Given the description of an element on the screen output the (x, y) to click on. 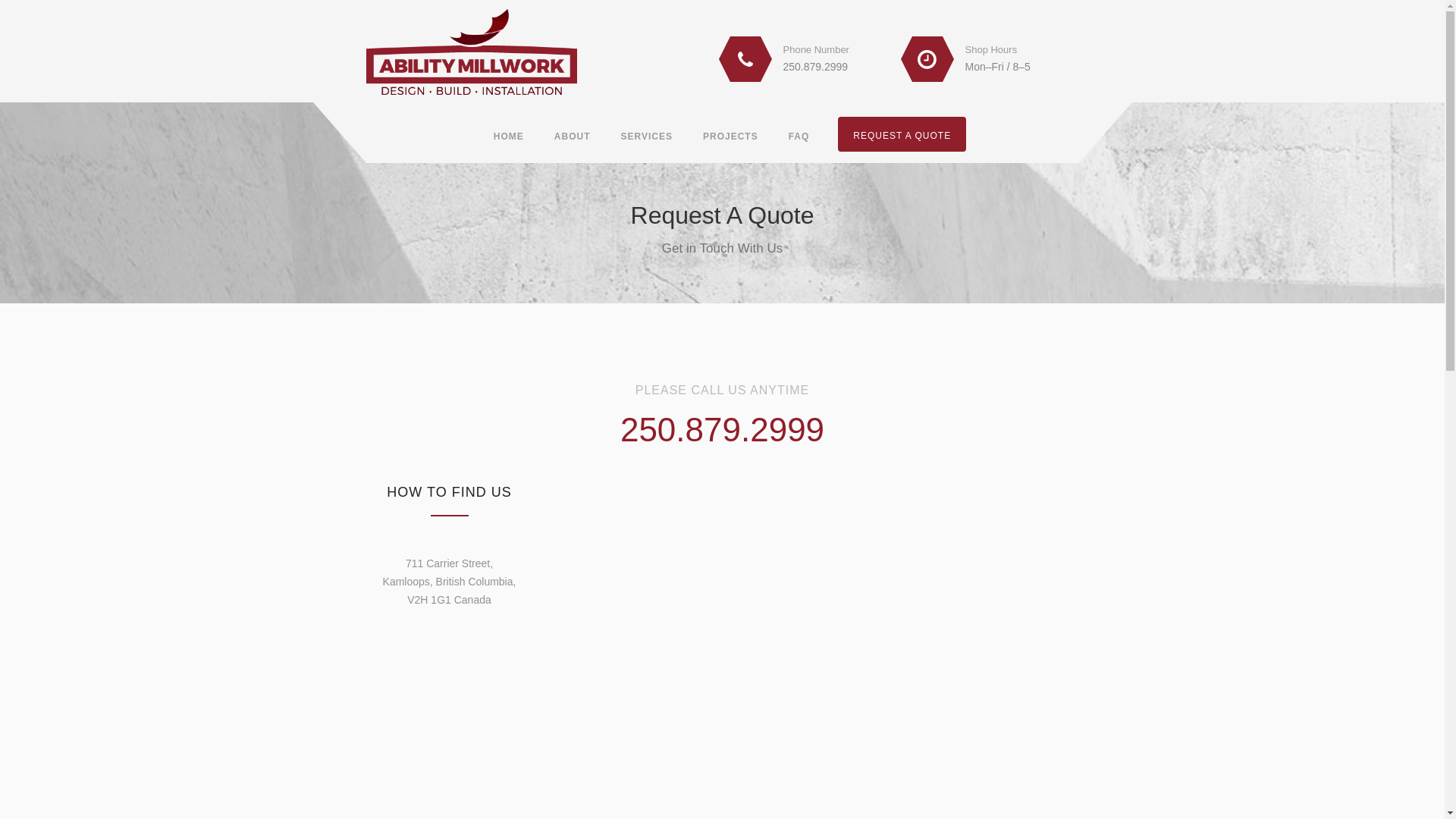
FAQ Element type: text (799, 132)
PROJECTS Element type: text (730, 132)
HOME Element type: text (508, 132)
SERVICES Element type: text (646, 132)
REQUEST A QUOTE Element type: text (901, 133)
ABOUT Element type: text (572, 132)
